Given the description of an element on the screen output the (x, y) to click on. 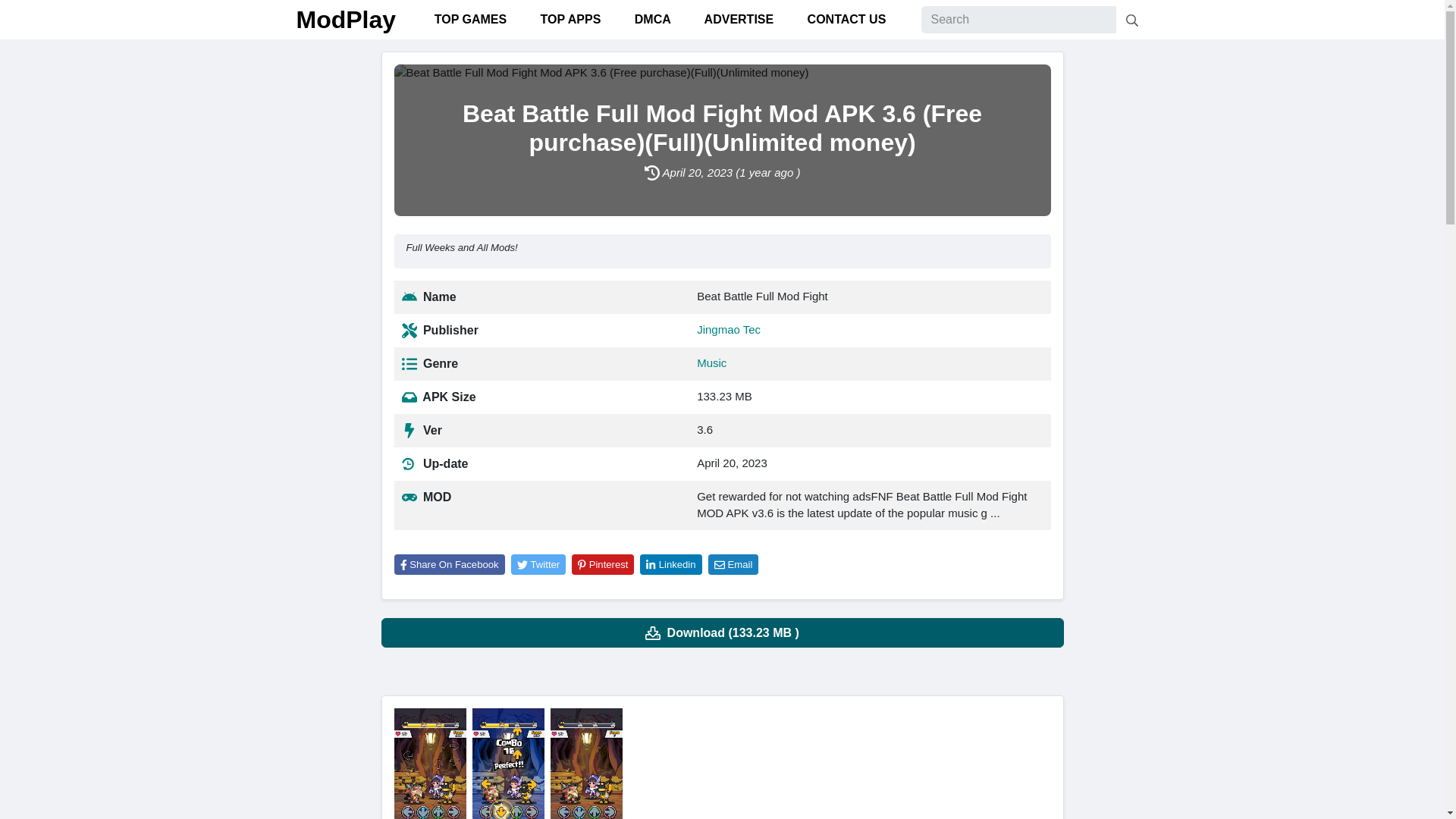
Share On Facebook (453, 564)
 CONTACT US (845, 19)
Music (711, 362)
Share On Facebook (449, 564)
Pinterest (602, 564)
Linkedin (670, 564)
 TOP GAMES (467, 19)
Jingmao Tec (728, 328)
Email (732, 564)
Search (1132, 19)
